Given the description of an element on the screen output the (x, y) to click on. 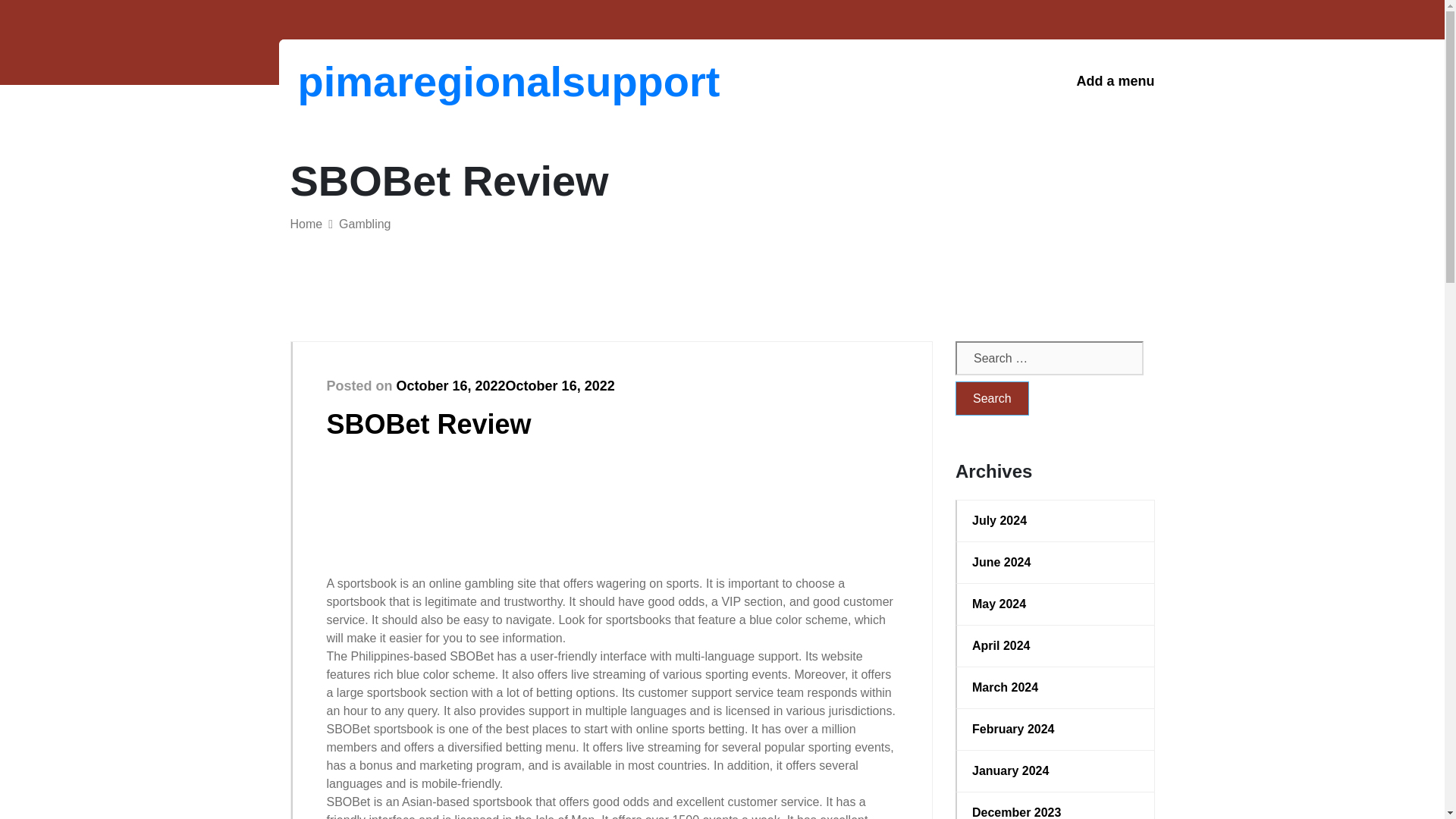
June 2024 (1055, 562)
Search (992, 398)
May 2024 (1055, 604)
Gambling (364, 223)
Home (305, 223)
pimaregionalsupport (376, 81)
SBOBet Review (428, 423)
March 2024 (1055, 687)
Search (992, 398)
Search (992, 398)
October 16, 2022October 16, 2022 (505, 385)
January 2024 (1055, 771)
April 2024 (1055, 646)
February 2024 (1055, 729)
Add a menu (1114, 81)
